Given the description of an element on the screen output the (x, y) to click on. 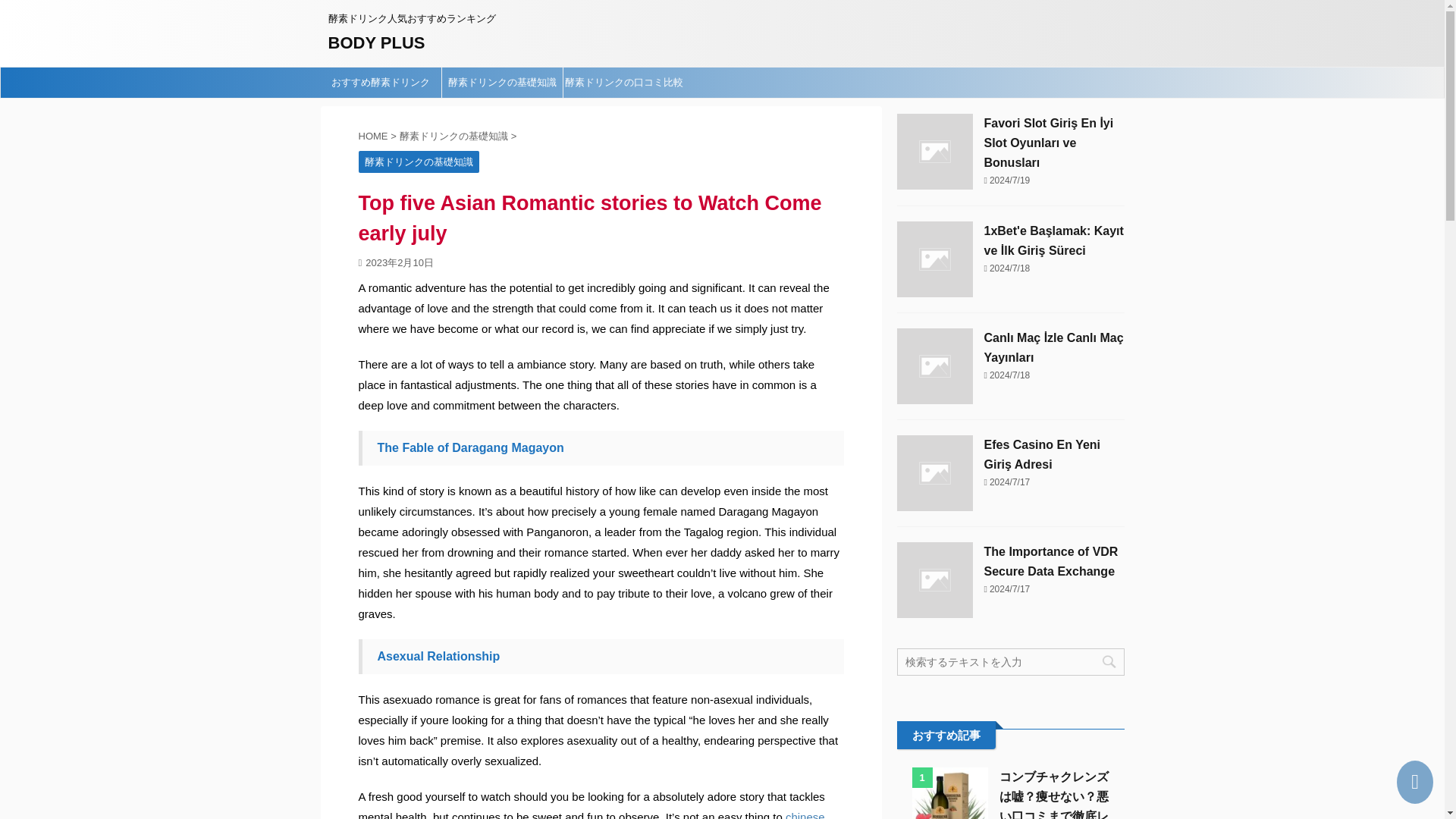
chinese brides for marriage (591, 814)
no image (934, 366)
no image (934, 472)
no image (934, 580)
no image (934, 259)
HOME (374, 135)
BODY PLUS (376, 42)
no image (934, 151)
